Given the description of an element on the screen output the (x, y) to click on. 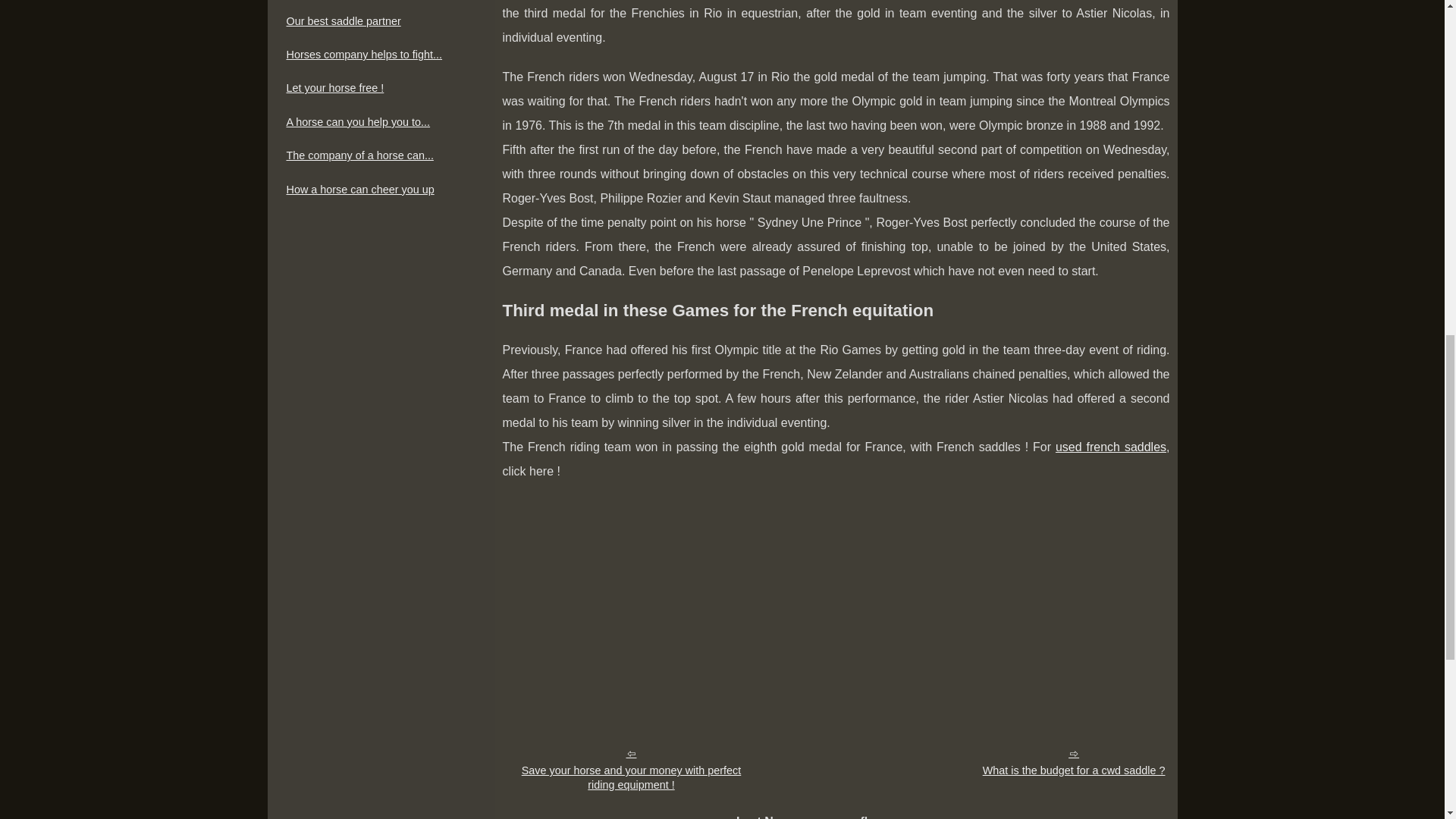
A horse can you help you to... (373, 122)
Horses company helps to fight... (373, 54)
What is the budget for a cwd saddle ? (1074, 761)
How a horse can cheer you up (373, 189)
used french saddles (1110, 446)
Let your horse free ! (373, 87)
The company of a horse can... (373, 155)
